Given the description of an element on the screen output the (x, y) to click on. 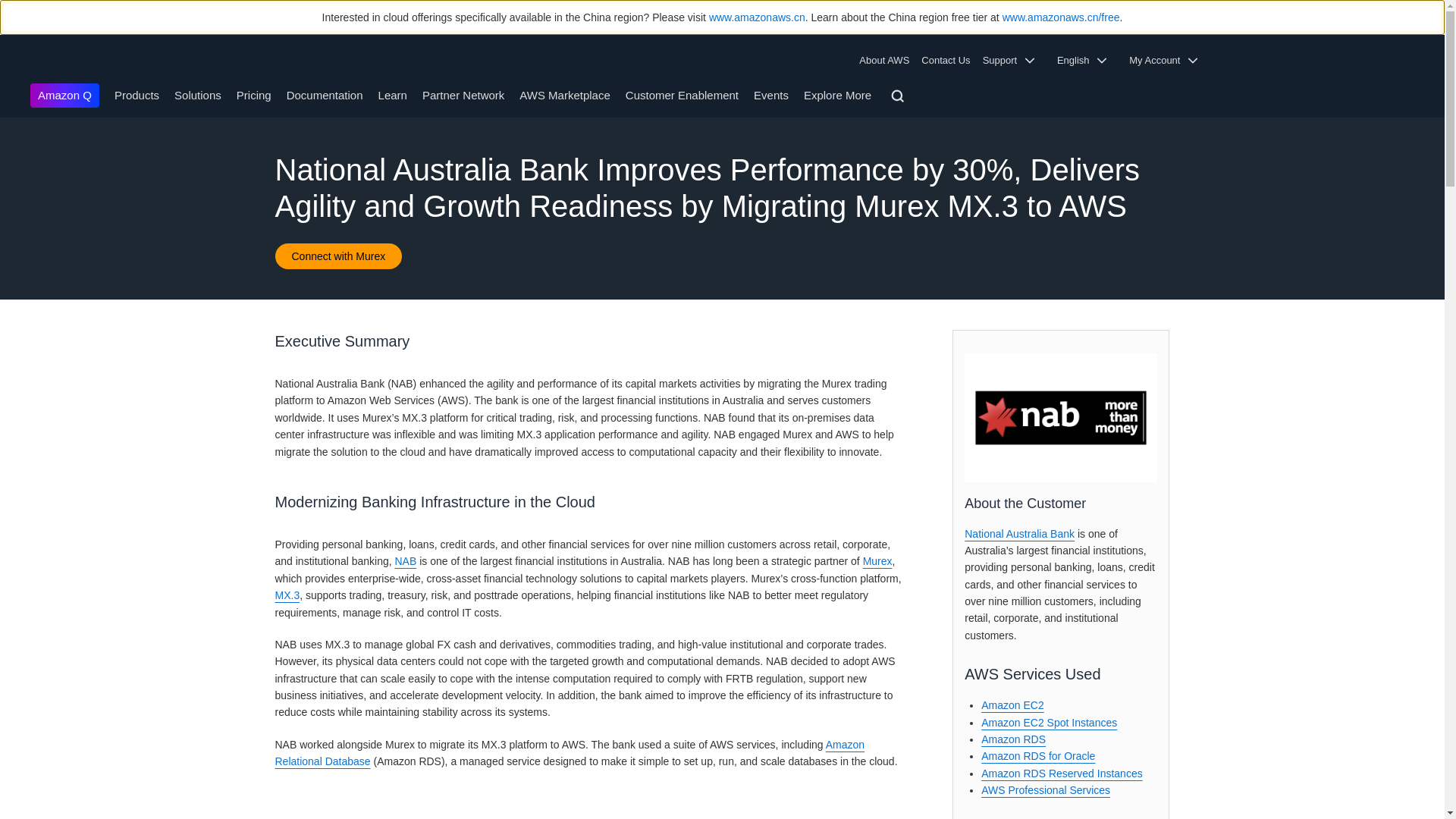
Solutions (197, 94)
Customer Enablement (682, 94)
Amazon Q (64, 95)
Support   (1013, 60)
www.amazonaws.cn (757, 17)
About AWS (887, 60)
National Australia Bank (1060, 417)
Pricing (252, 94)
Skip to main content (7, 124)
Click here to return to Amazon Web Services homepage (52, 61)
